Given the description of an element on the screen output the (x, y) to click on. 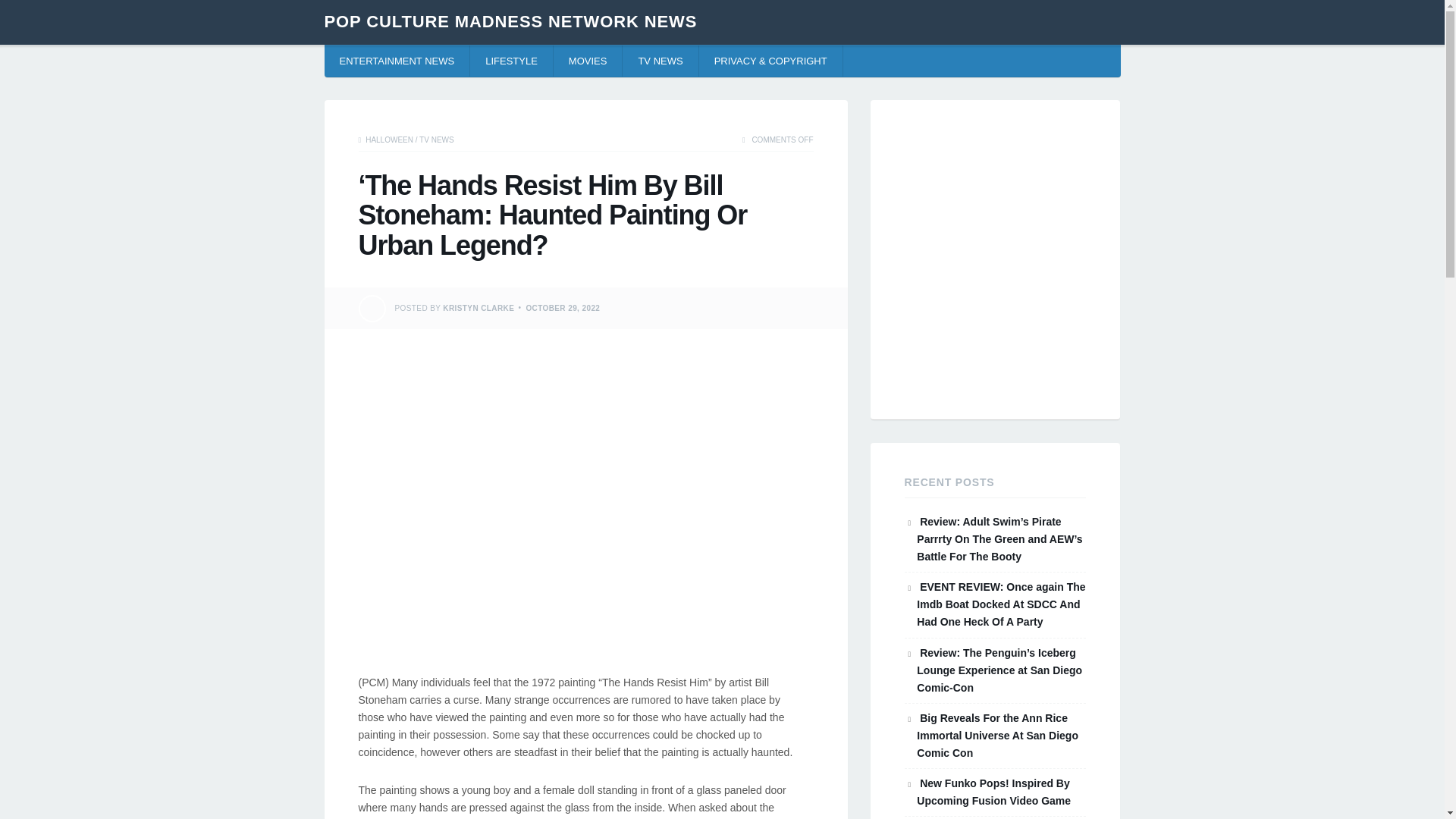
HALLOWEEN (389, 139)
OCTOBER 29, 2022 (562, 307)
LIFESTYLE (511, 60)
TV NEWS (436, 139)
MOVIES (588, 60)
View all posts by Kristyn Clarke (477, 307)
POP CULTURE MADNESS NETWORK NEWS (510, 21)
ENTERTAINMENT NEWS (397, 60)
